Given the description of an element on the screen output the (x, y) to click on. 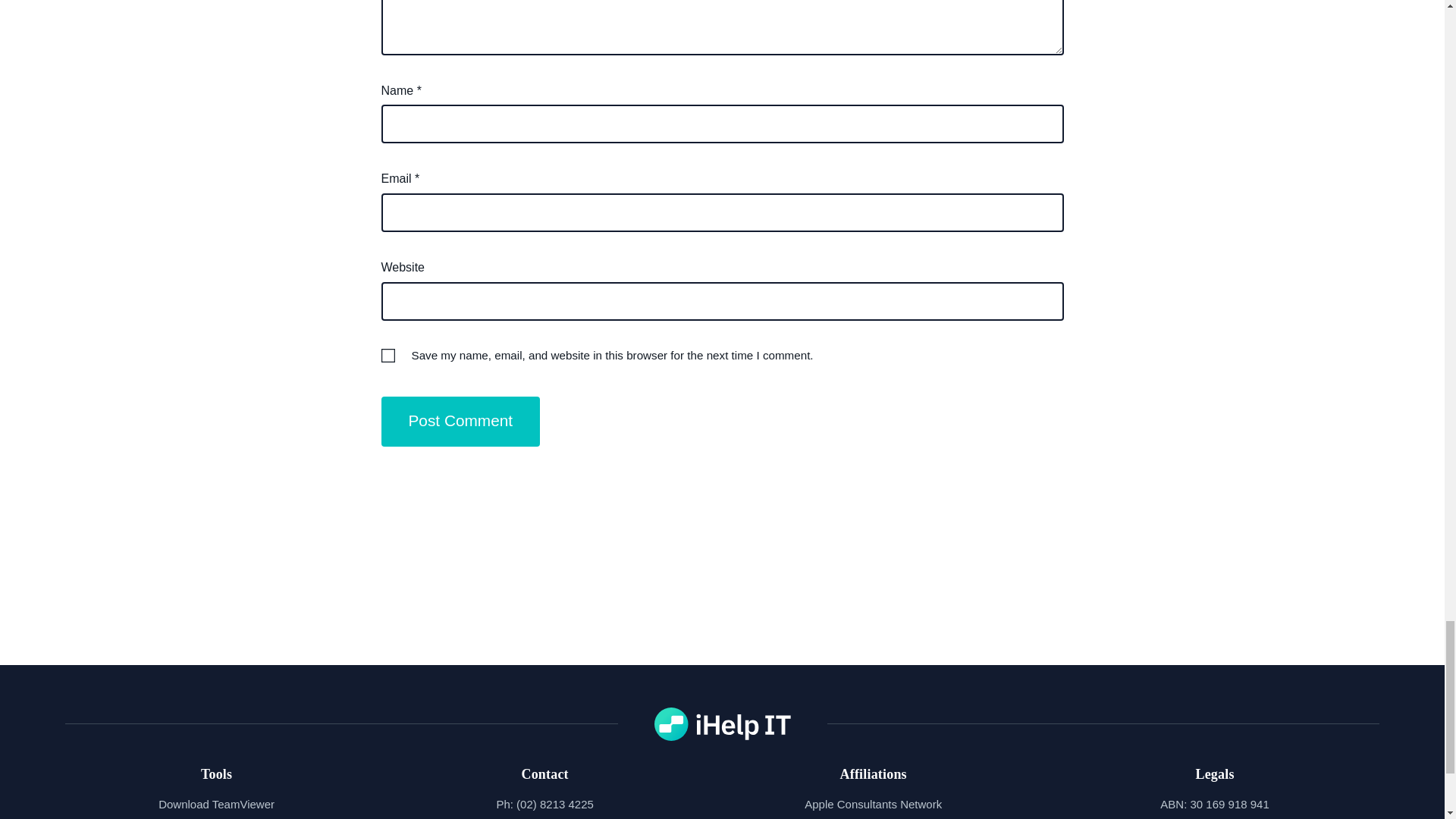
Post Comment (460, 421)
Post Comment (460, 421)
Download TeamViewer (216, 803)
